Given the description of an element on the screen output the (x, y) to click on. 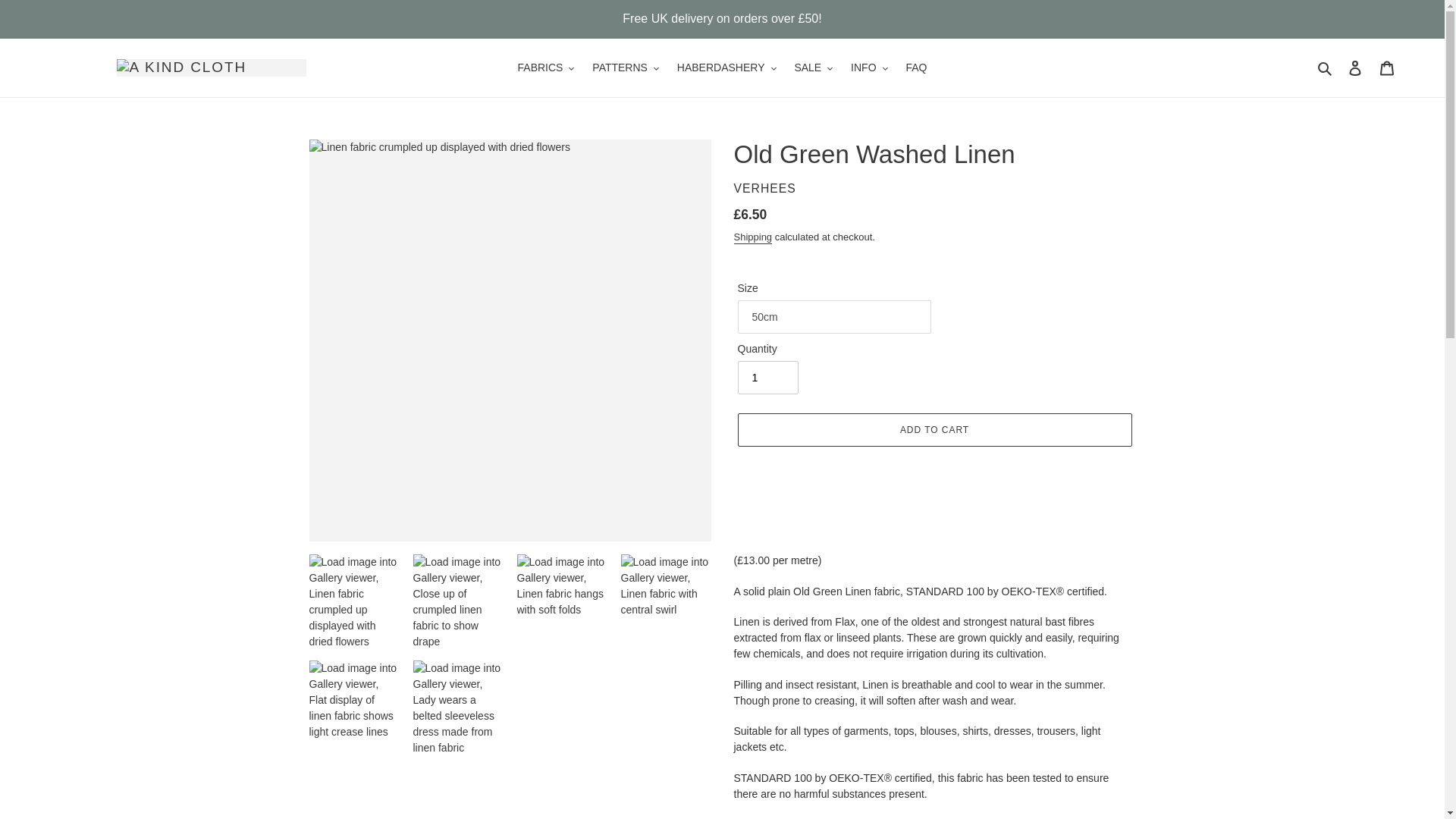
1 (766, 377)
FABRICS (546, 67)
